Given the description of an element on the screen output the (x, y) to click on. 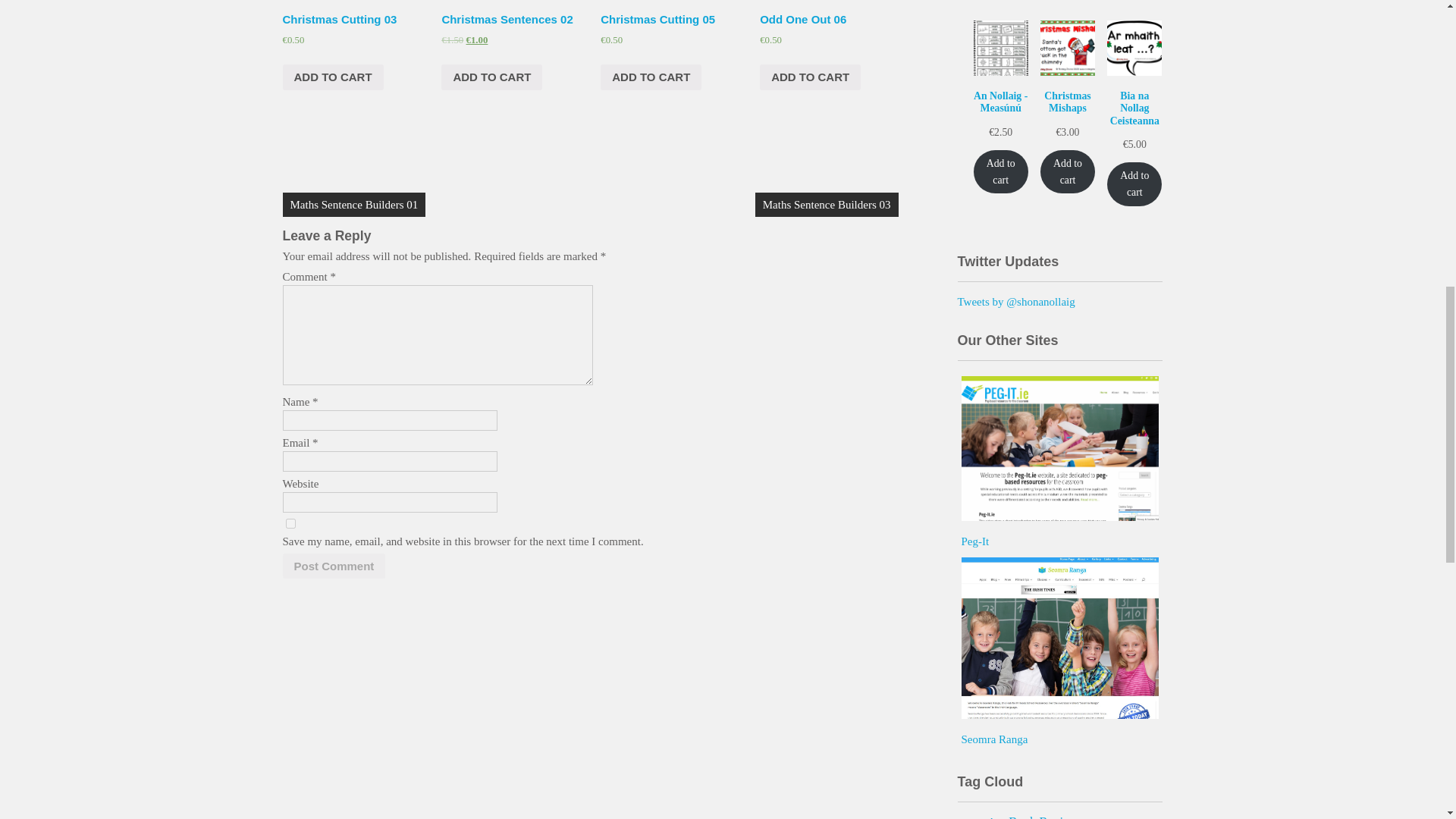
Post Comment (333, 566)
ADD TO CART (650, 77)
yes (290, 523)
Maths Sentence Builders 01 (353, 204)
ADD TO CART (332, 77)
ADD TO CART (810, 77)
ADD TO CART (491, 77)
Maths Sentence Builders 03 (826, 204)
